Given the description of an element on the screen output the (x, y) to click on. 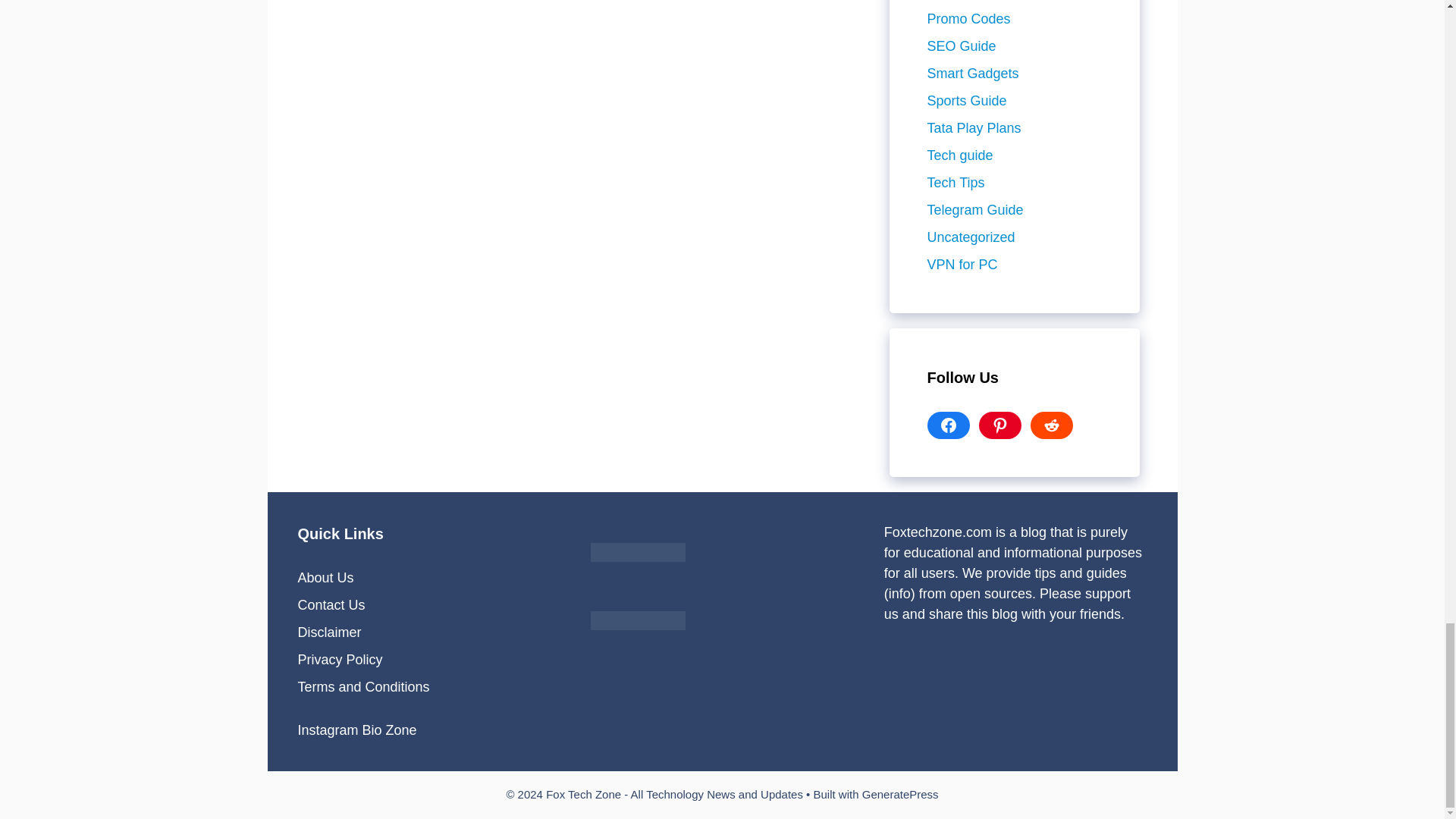
DMCA.com Protection Status (638, 569)
